Given the description of an element on the screen output the (x, y) to click on. 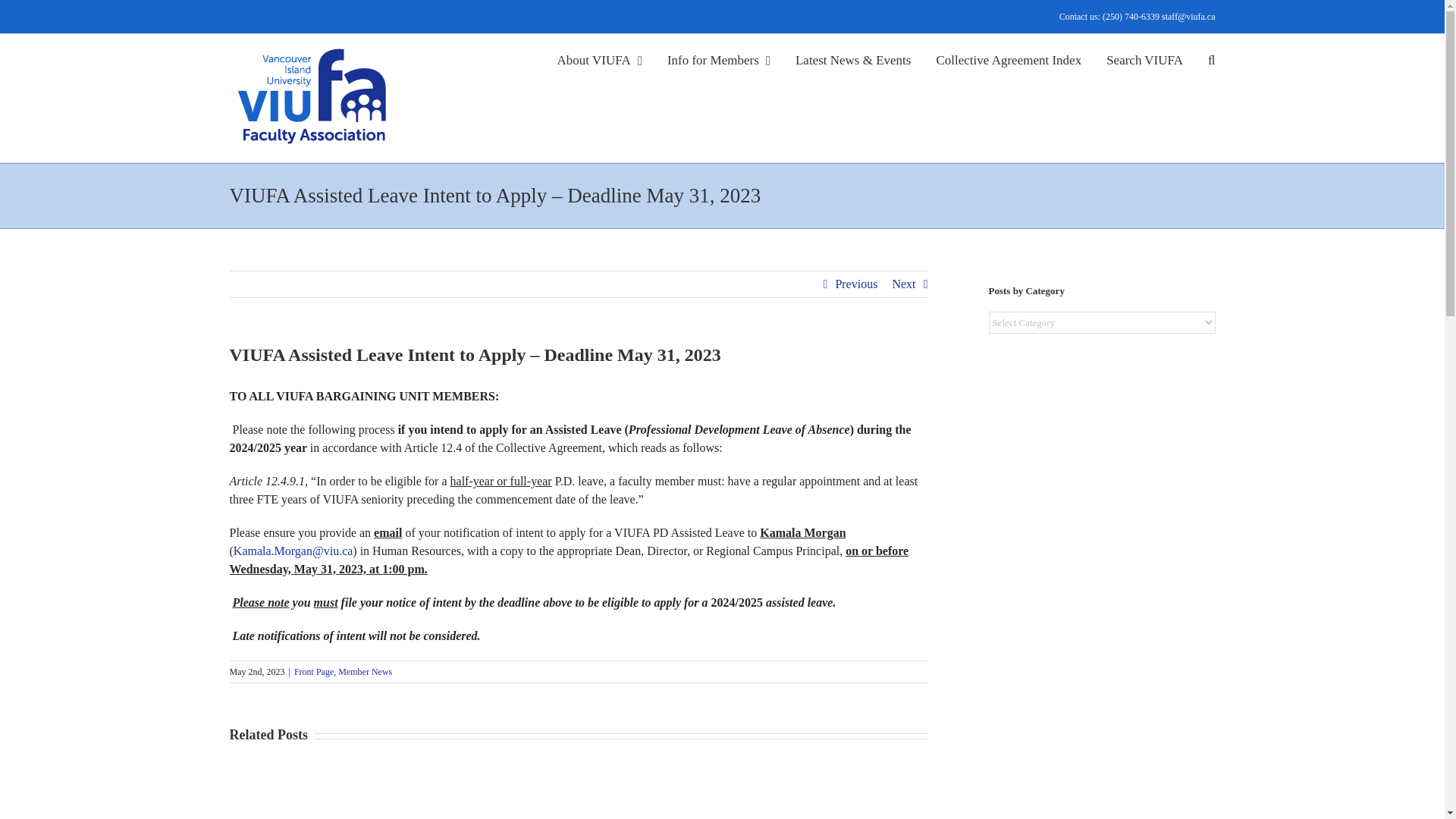
Collective Agreement Index (1008, 58)
Next (903, 284)
Front Page (313, 671)
Previous (855, 284)
About VIUFA (599, 58)
Member News (364, 671)
Info for Members (718, 58)
Search VIUFA (1144, 58)
